Given the description of an element on the screen output the (x, y) to click on. 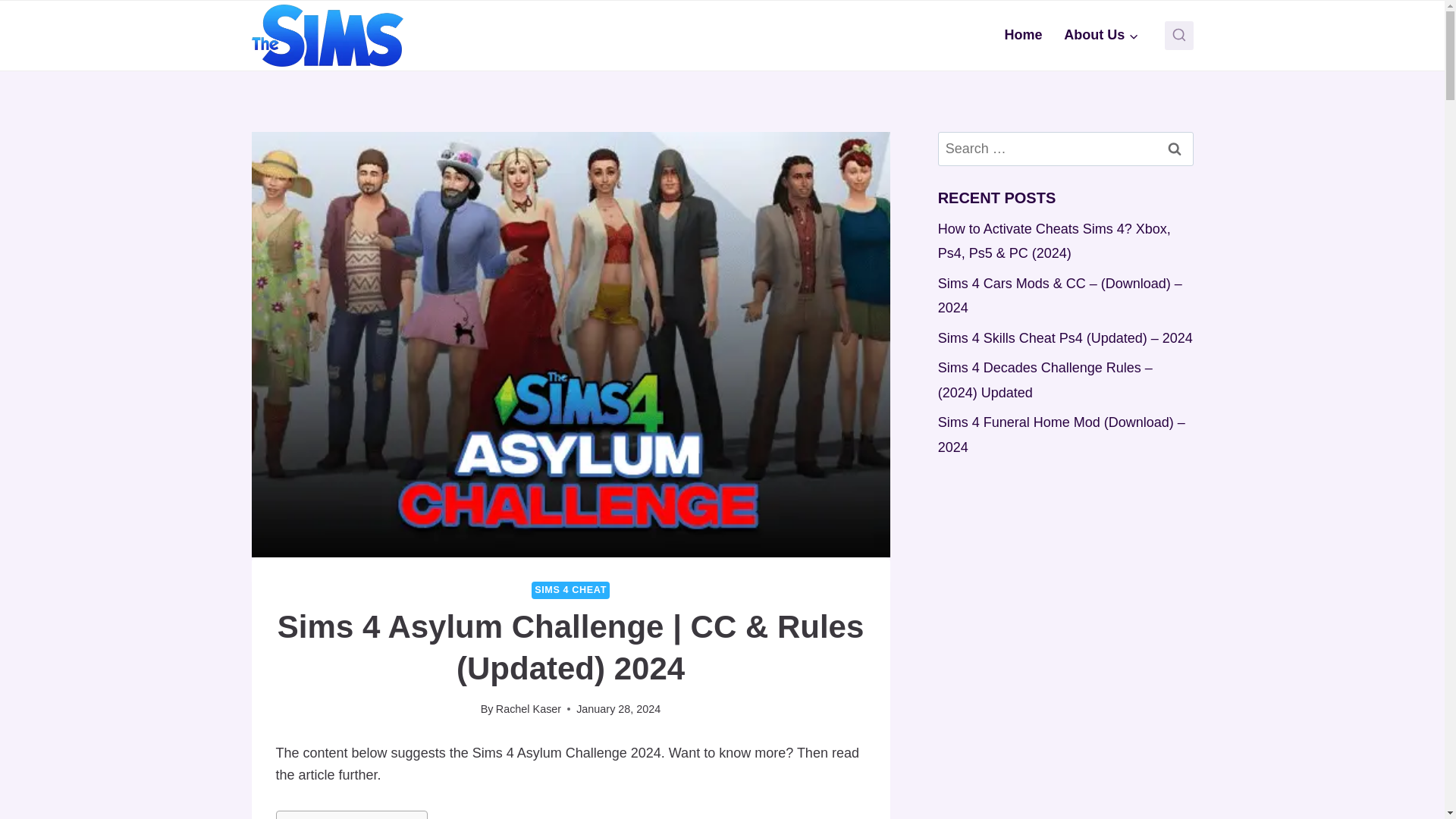
Search (1174, 148)
Home (1022, 34)
SIMS 4 CHEAT (570, 589)
Search (1174, 148)
About Us (1101, 34)
Rachel Kaser (528, 708)
